Given the description of an element on the screen output the (x, y) to click on. 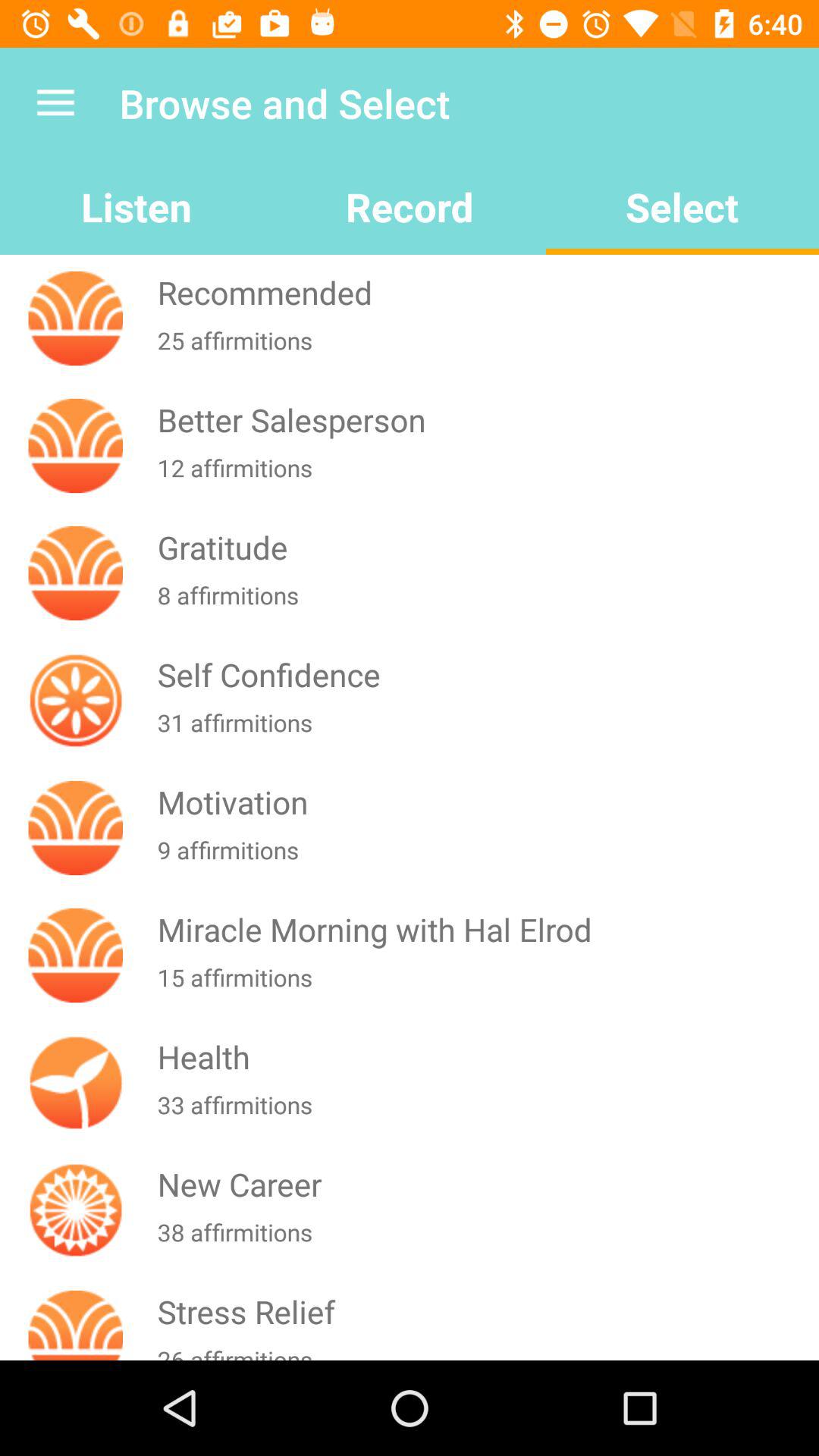
scroll to the recommended icon (484, 292)
